Given the description of an element on the screen output the (x, y) to click on. 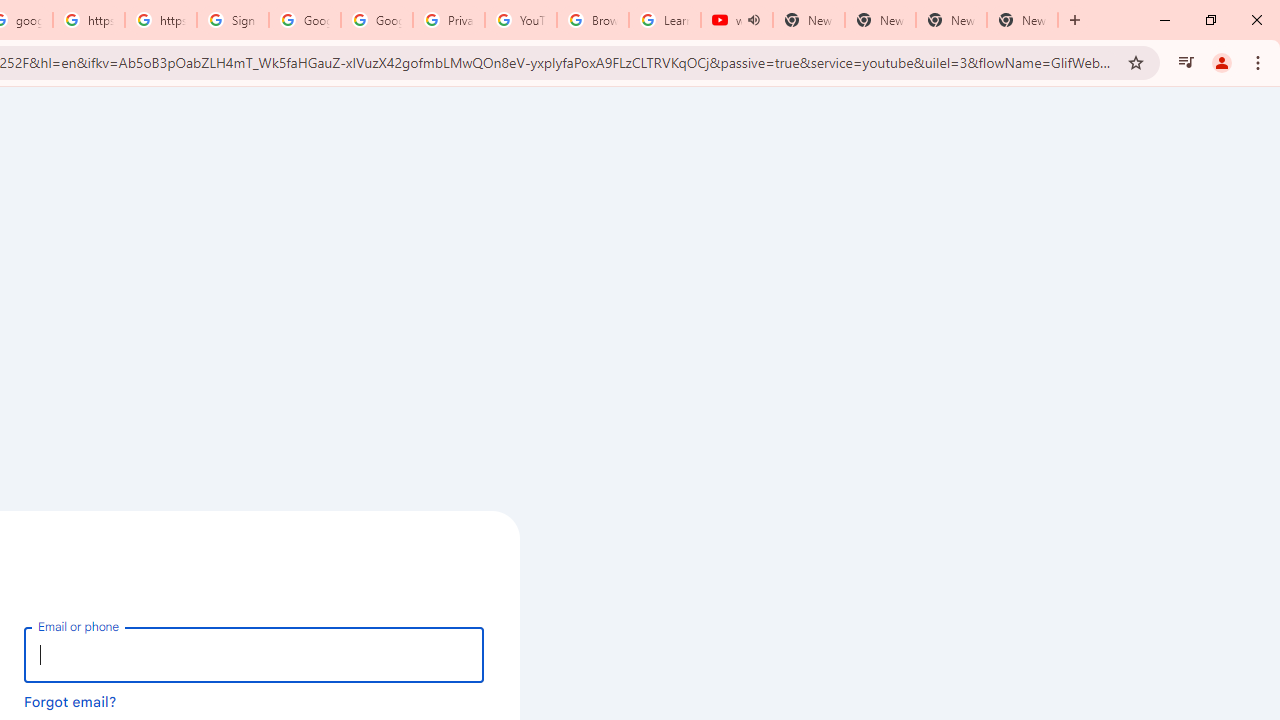
YouTube (520, 20)
https://scholar.google.com/ (88, 20)
